Given the description of an element on the screen output the (x, y) to click on. 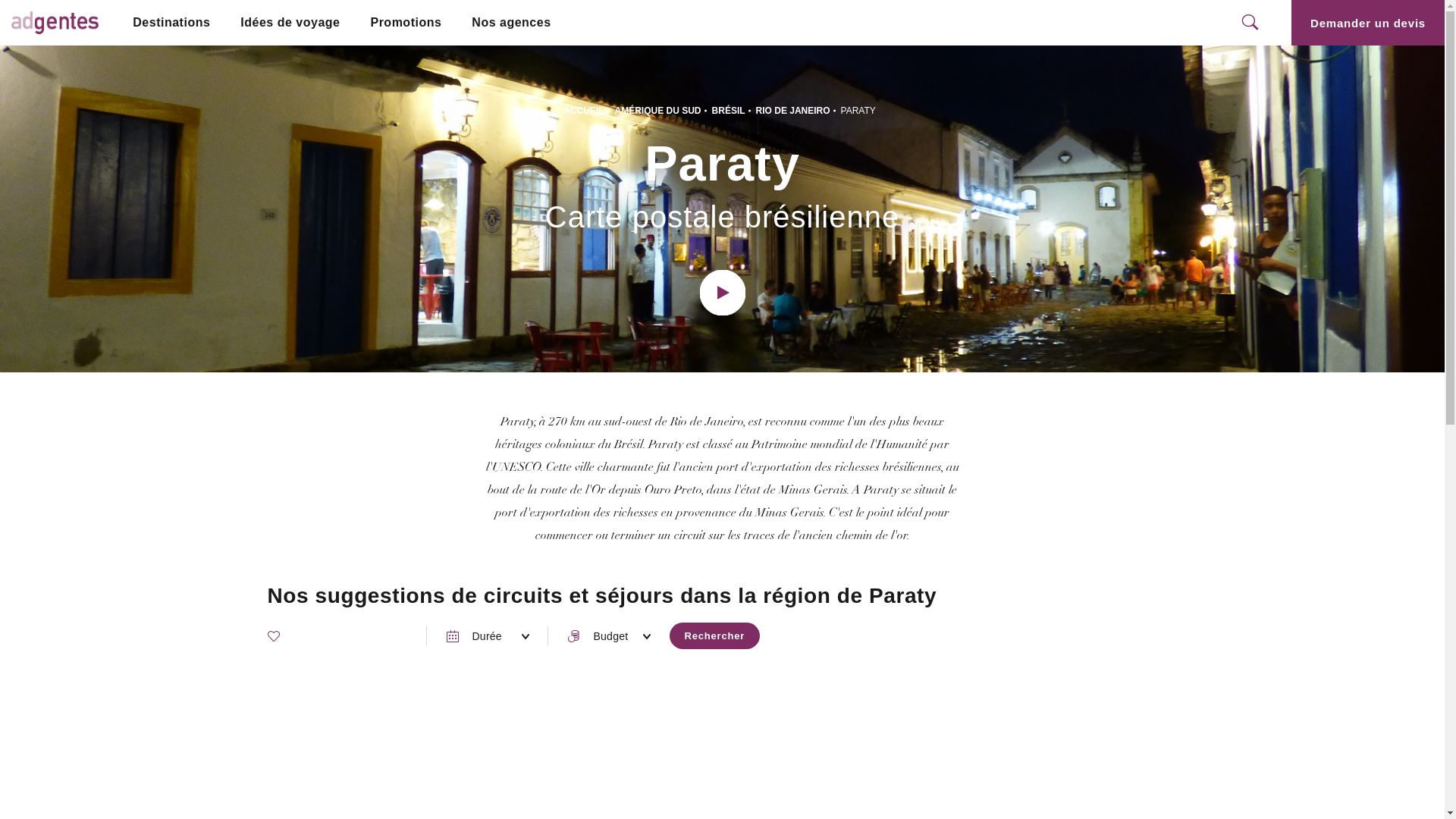
Nos agences Element type: text (510, 22)
Budget Element type: text (608, 635)
Ouvrir le formulaire de recherche Element type: text (1249, 22)
Promotions Element type: text (405, 22)
ACCUEIL Element type: text (583, 110)
Rechercher Element type: text (713, 635)
RIO DE JANEIRO Element type: text (793, 110)
Demander un devis Element type: text (1367, 22)
